Given the description of an element on the screen output the (x, y) to click on. 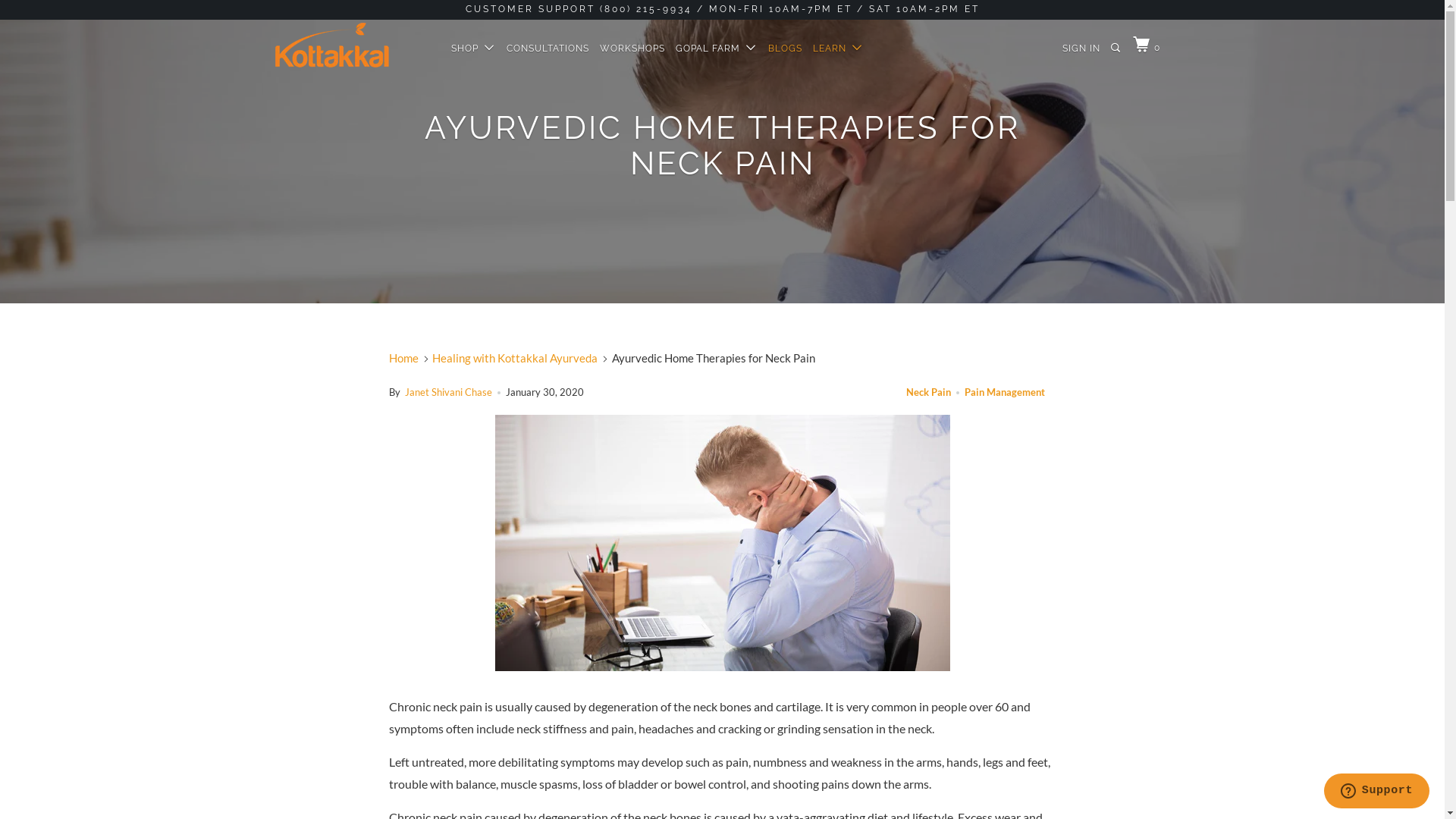
CONSULTATIONS Element type: text (547, 48)
Home Element type: text (402, 357)
LEARN   Element type: text (837, 47)
Search Element type: hover (1116, 48)
Neck Pain Element type: text (927, 391)
0 Element type: text (1147, 45)
Pain Management Element type: text (1004, 391)
GOPAL FARM   Element type: text (716, 47)
KOTTAKKAL Ayurveda USA Element type: hover (351, 44)
WORKSHOPS Element type: text (632, 48)
Healing with Kottakkal Ayurveda Element type: text (514, 357)
Opens a widget where you can find more information Element type: hover (1376, 792)
BLOGS Element type: text (785, 48)
SIGN IN Element type: text (1081, 48)
SHOP   Element type: text (472, 47)
Janet Shivani Chase Element type: text (448, 391)
